Given the description of an element on the screen output the (x, y) to click on. 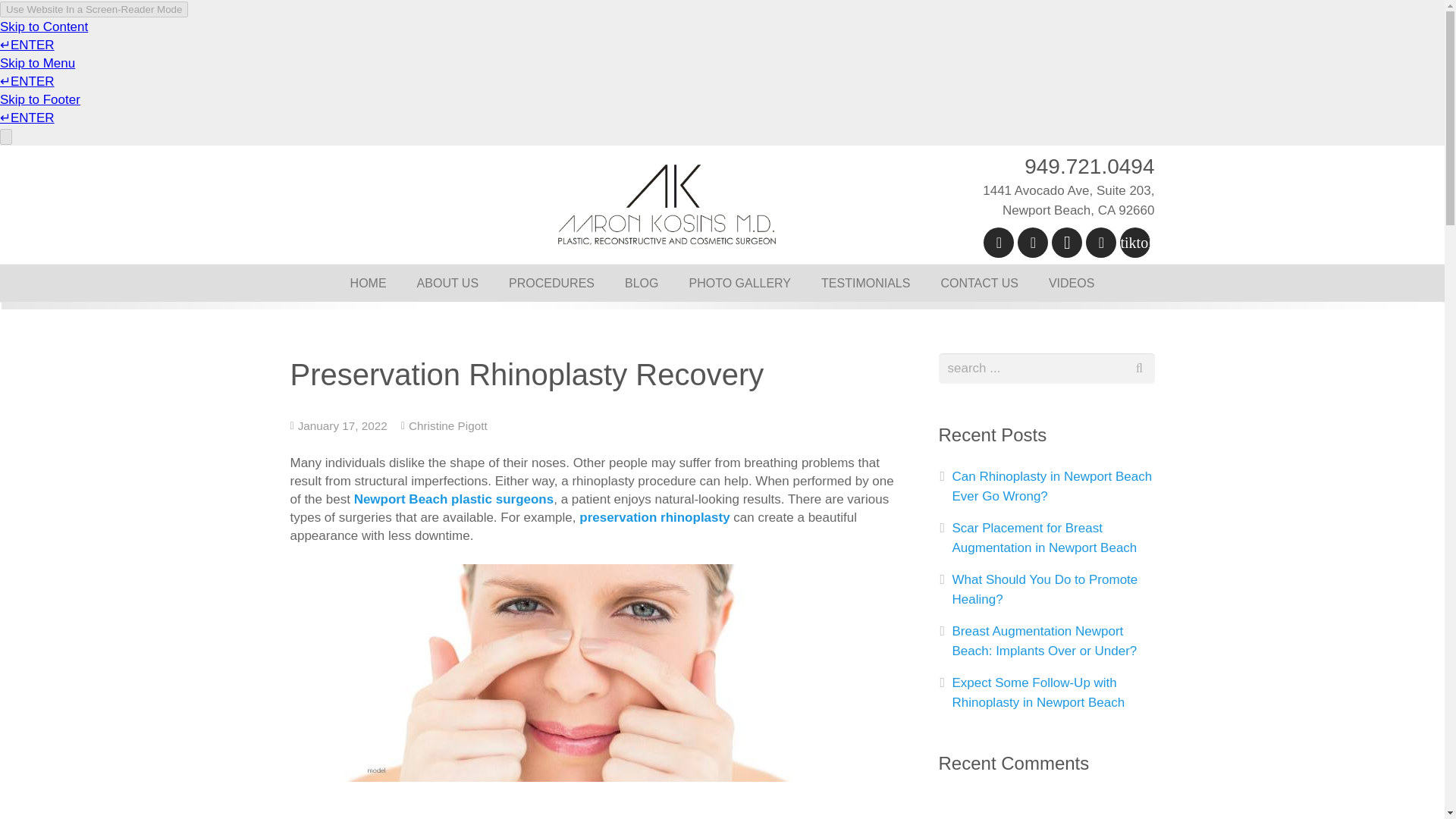
tiktok (1134, 242)
BLOG (641, 283)
HOME (367, 283)
PHOTO GALLERY (739, 283)
CONTACT US (978, 283)
preservation rhinoplasty (654, 516)
PROCEDURES (551, 283)
VIDEOS (1071, 283)
newport beach plastic surgeons (591, 673)
ABOUT US (448, 283)
TESTIMONIALS (865, 283)
Christine Pigott (448, 424)
Newport Beach plastic surgeons (453, 498)
